Given the description of an element on the screen output the (x, y) to click on. 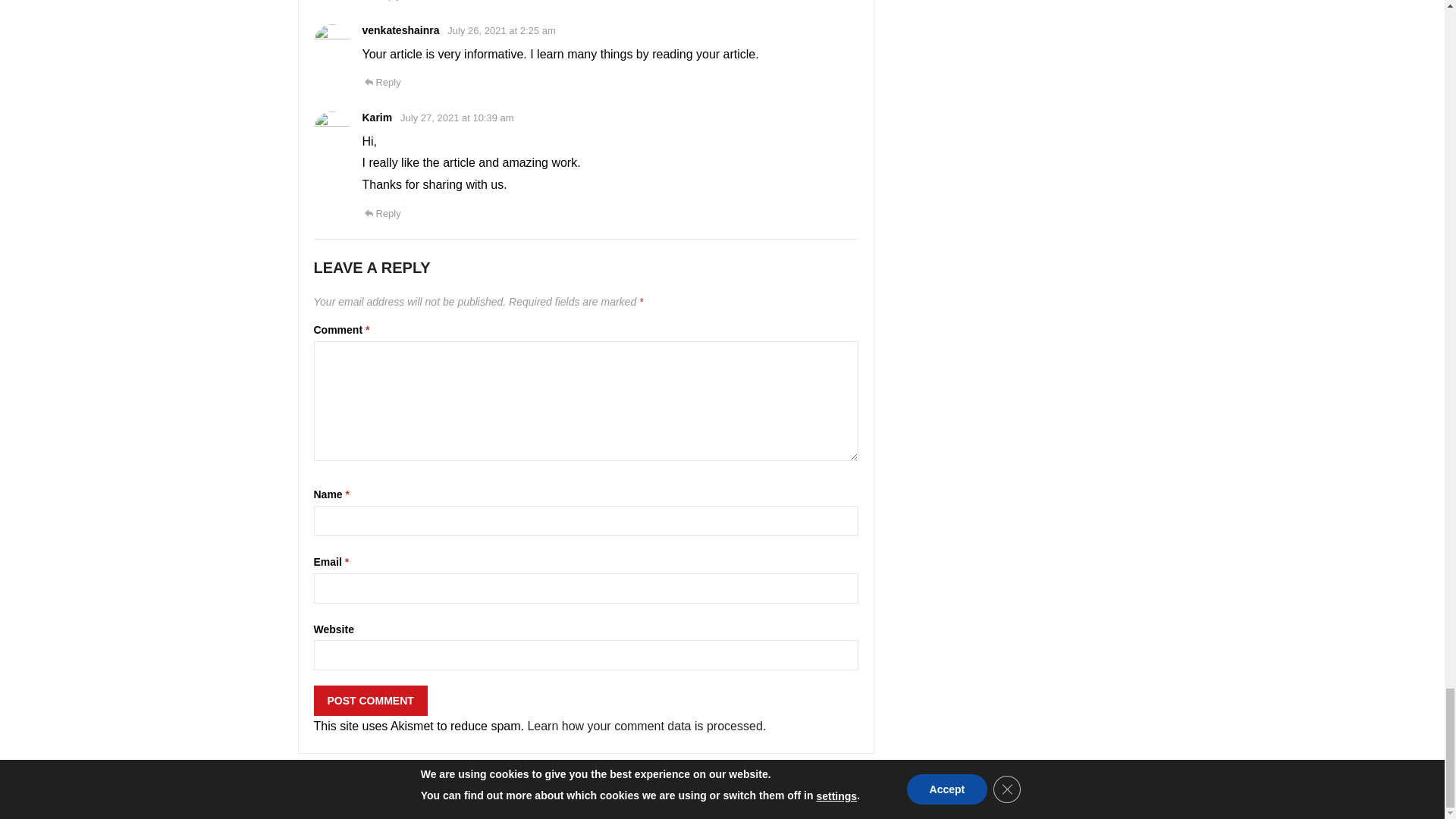
Post Comment (371, 700)
